Given the description of an element on the screen output the (x, y) to click on. 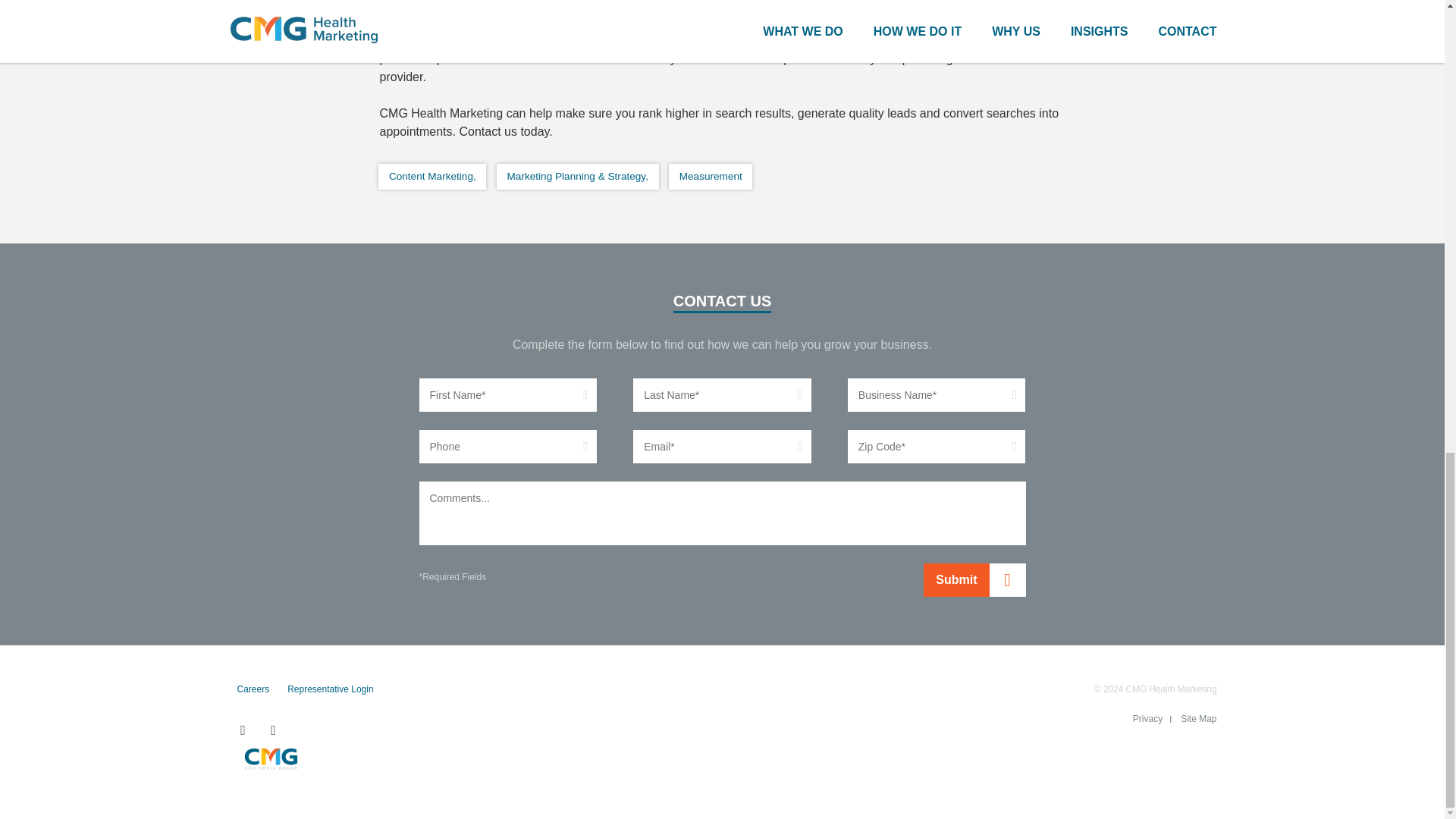
LinkedIn (272, 729)
Privacy (1146, 718)
Measurement (710, 176)
Representative Login (329, 688)
Facebook (242, 729)
Facebook (242, 729)
Content Marketing, (432, 176)
LinkedIn (272, 729)
Careers (252, 688)
Submit (974, 580)
Site Map (1197, 718)
